Given the description of an element on the screen output the (x, y) to click on. 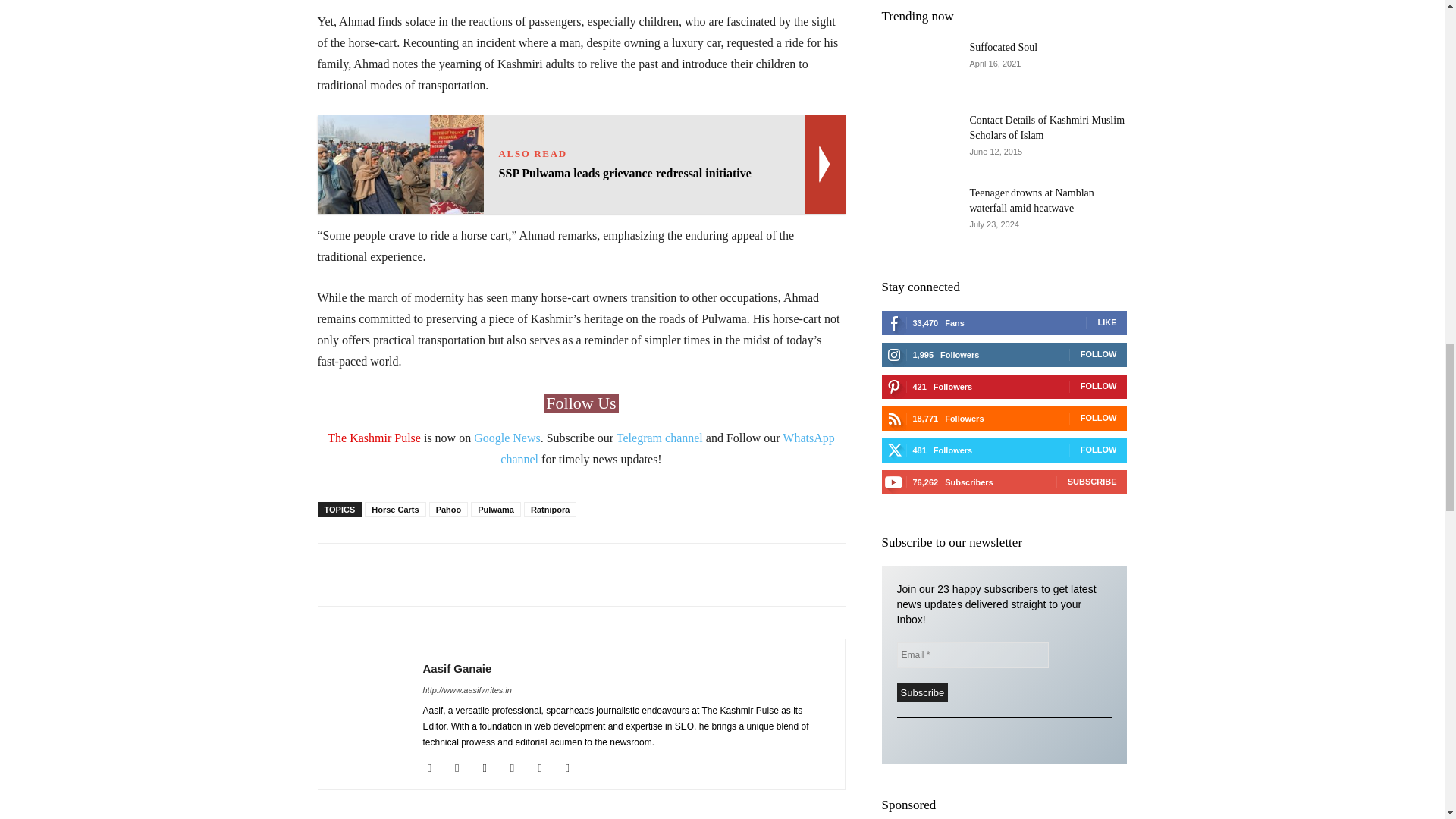
Subscribe (921, 692)
